Given the description of an element on the screen output the (x, y) to click on. 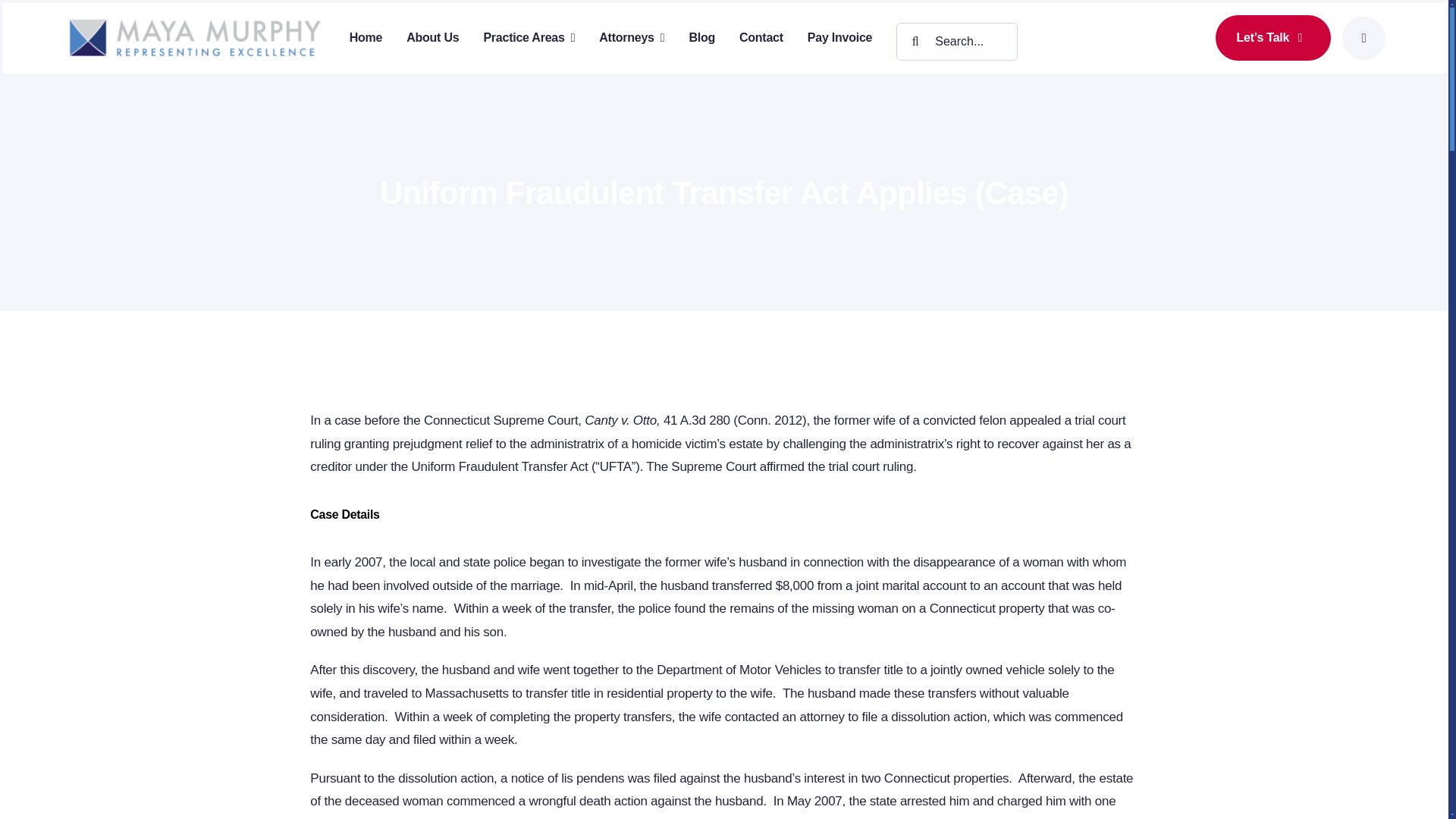
Home (365, 37)
Practice Areas (529, 37)
About Us (432, 37)
